Given the description of an element on the screen output the (x, y) to click on. 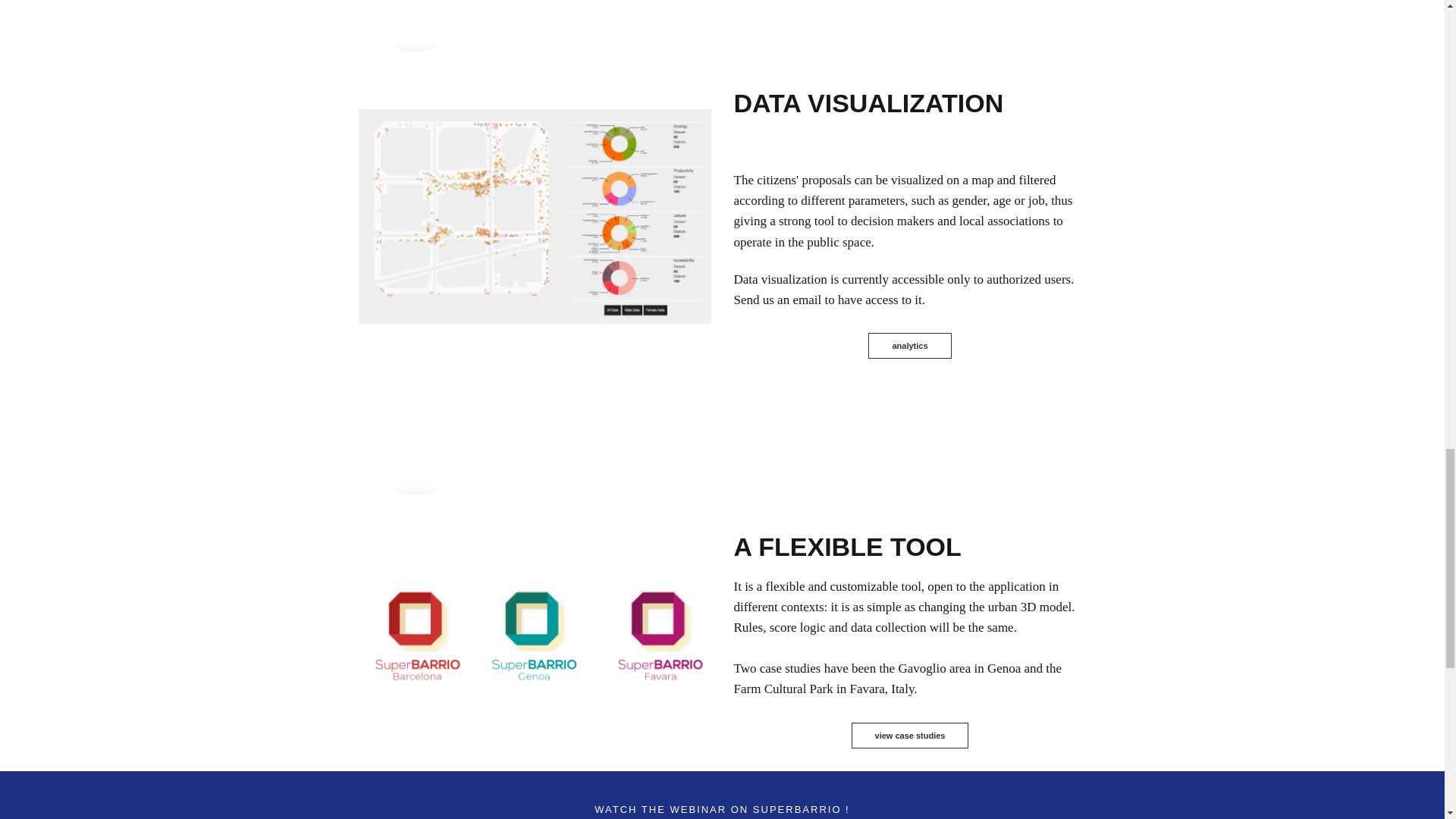
analytics (908, 345)
view case studies (910, 735)
analytics (534, 215)
